Given the description of an element on the screen output the (x, y) to click on. 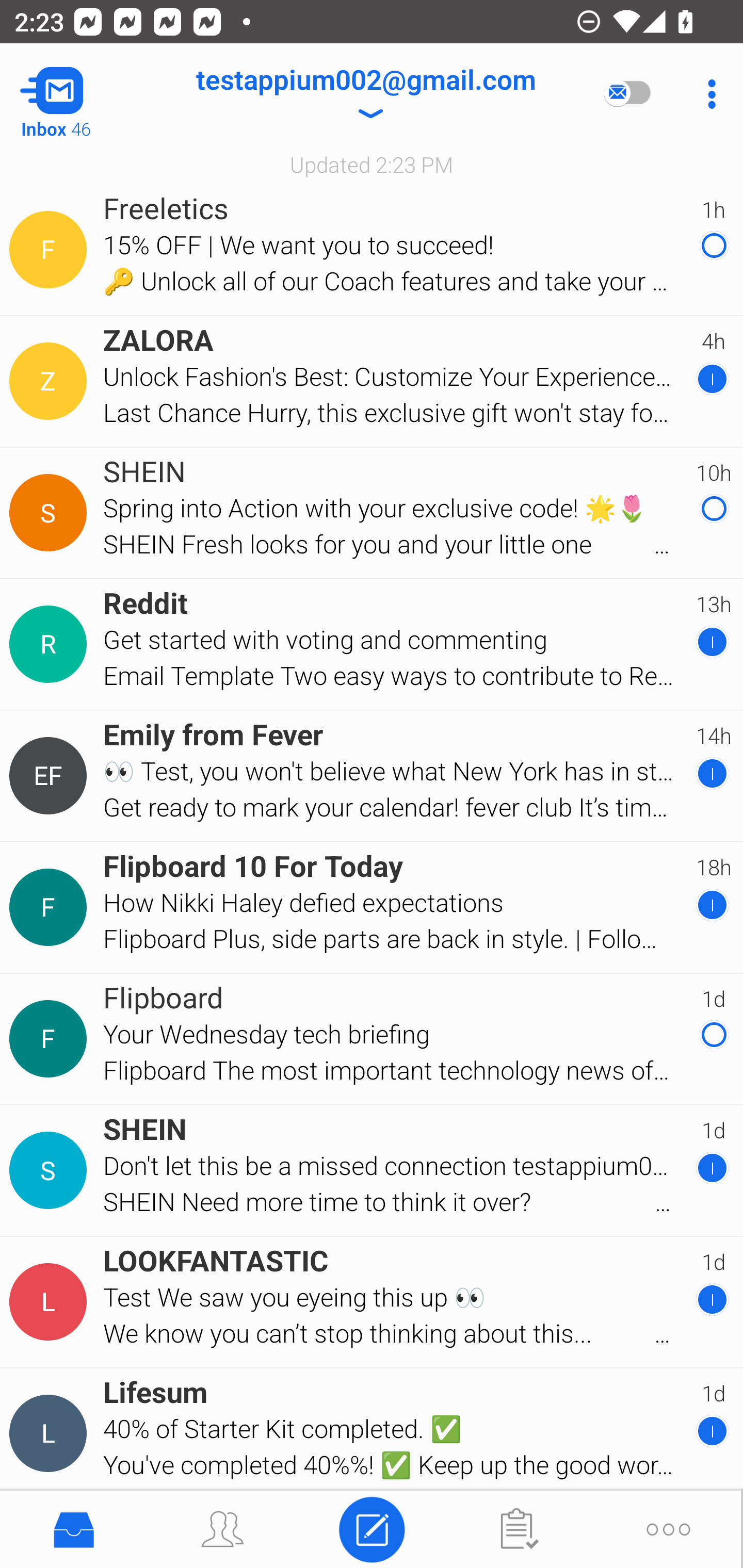
Navigate up (81, 93)
testappium002@gmail.com (365, 93)
More Options (706, 93)
Updated 2:23 PM (371, 164)
Contact Details (50, 250)
Contact Details (50, 381)
Contact Details (50, 513)
Contact Details (50, 644)
Contact Details (50, 776)
Contact Details (50, 907)
Contact Details (50, 1038)
Contact Details (50, 1170)
Contact Details (50, 1302)
Contact Details (50, 1433)
